Given the description of an element on the screen output the (x, y) to click on. 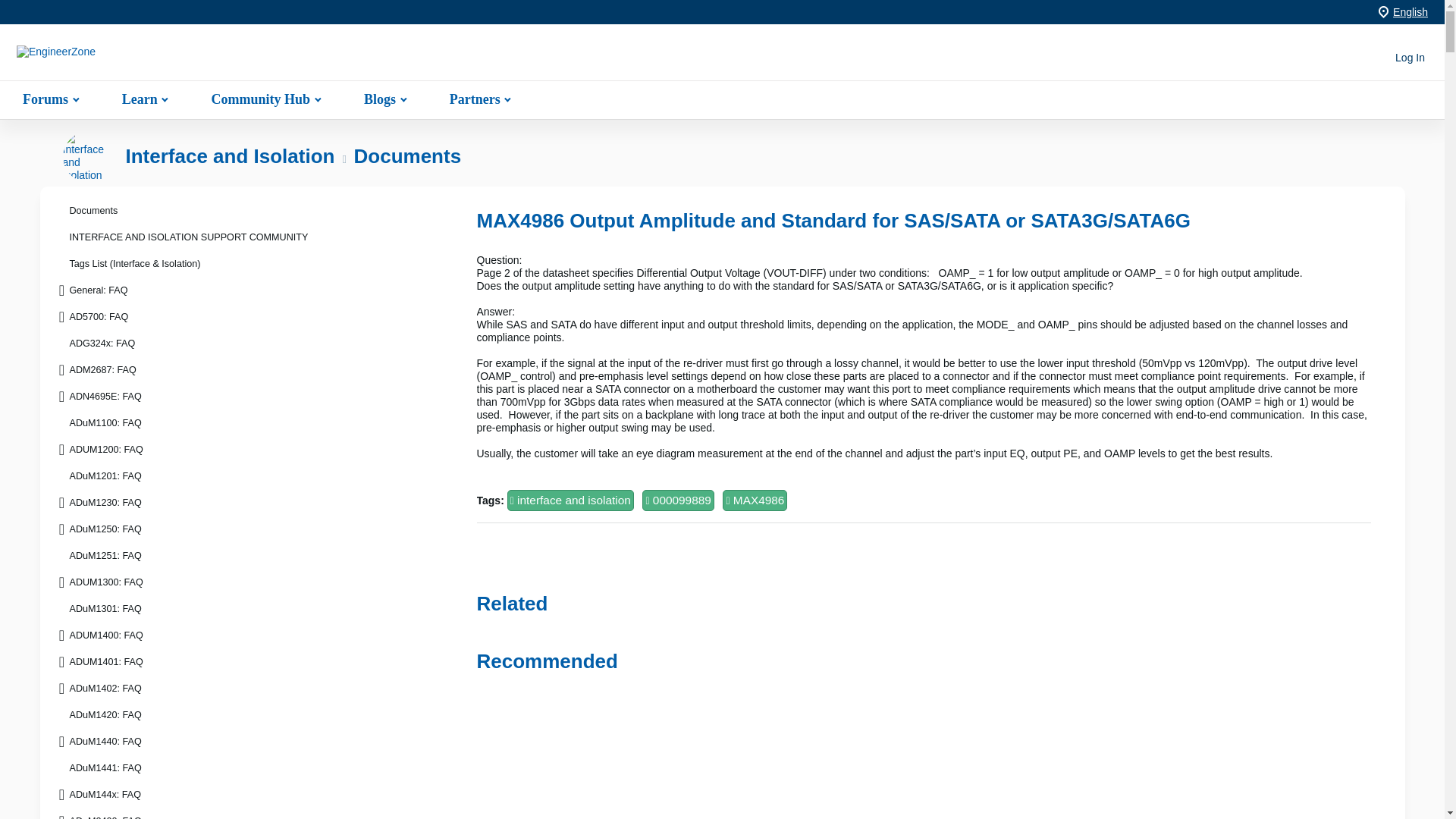
Forums (49, 98)
Join or sign in (1409, 57)
Home (111, 57)
Log In (1409, 57)
English (1410, 11)
